Given the description of an element on the screen output the (x, y) to click on. 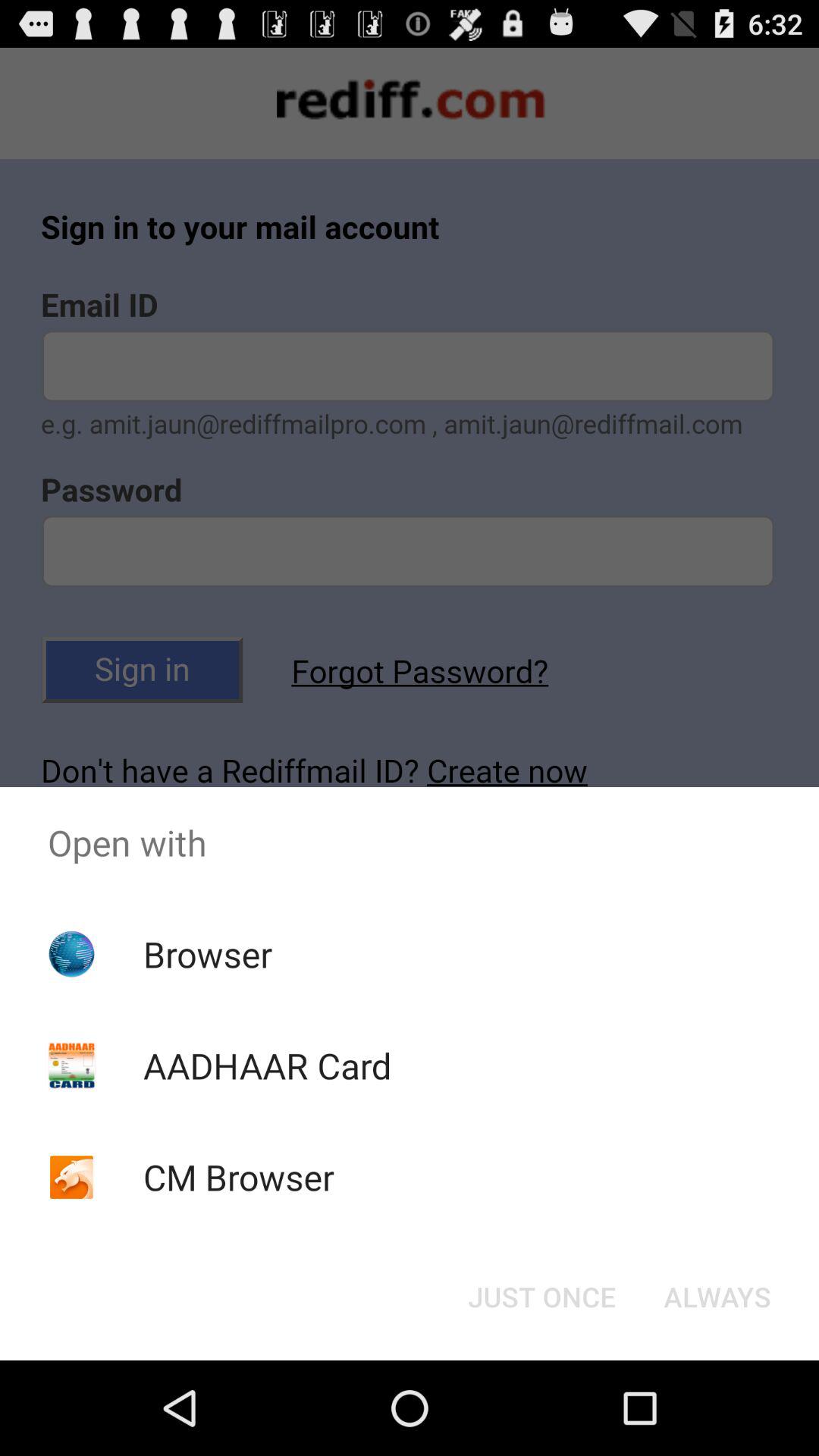
scroll to the just once (541, 1296)
